Given the description of an element on the screen output the (x, y) to click on. 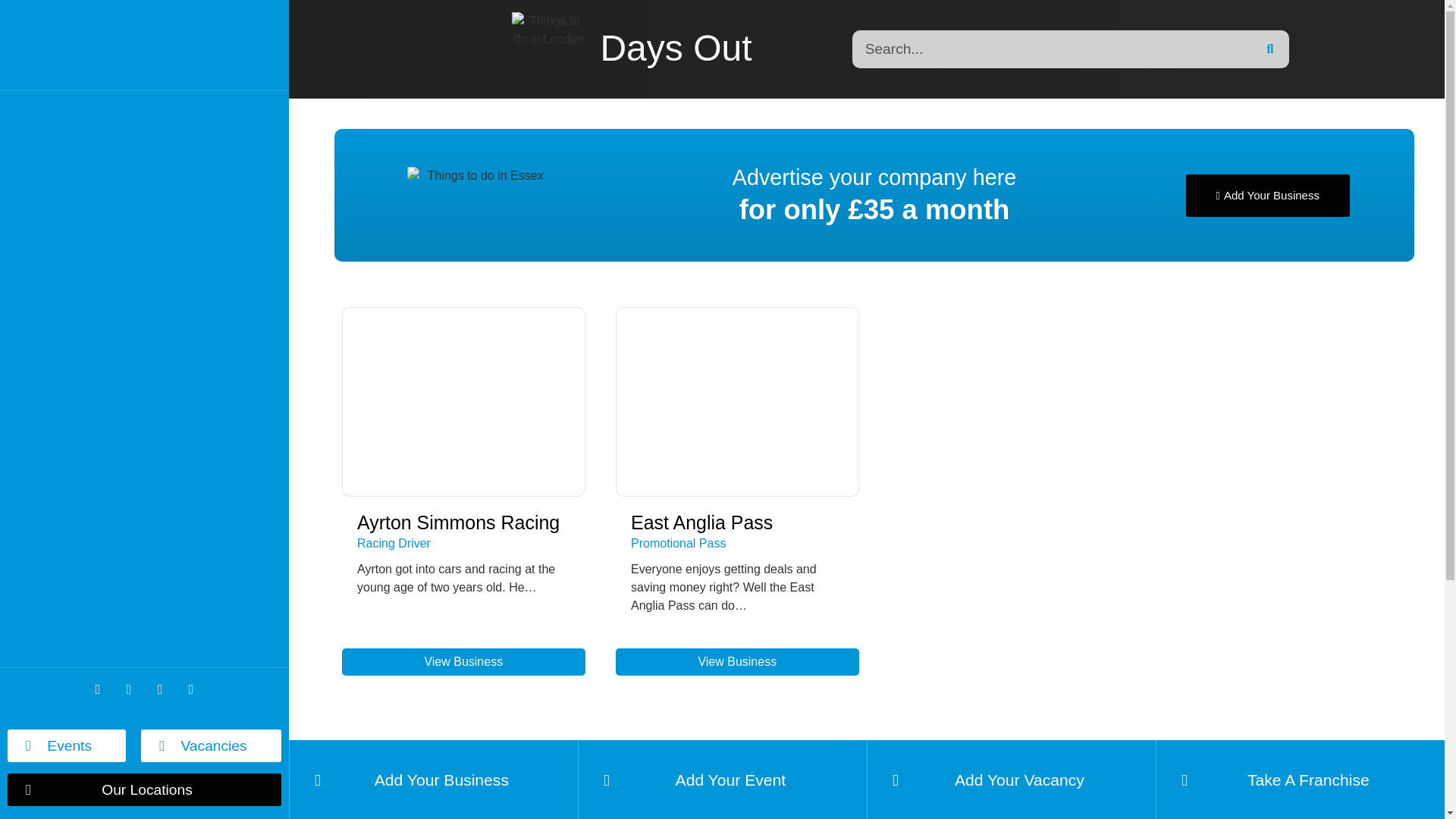
Search (1050, 48)
Search (1269, 48)
